Given the description of an element on the screen output the (x, y) to click on. 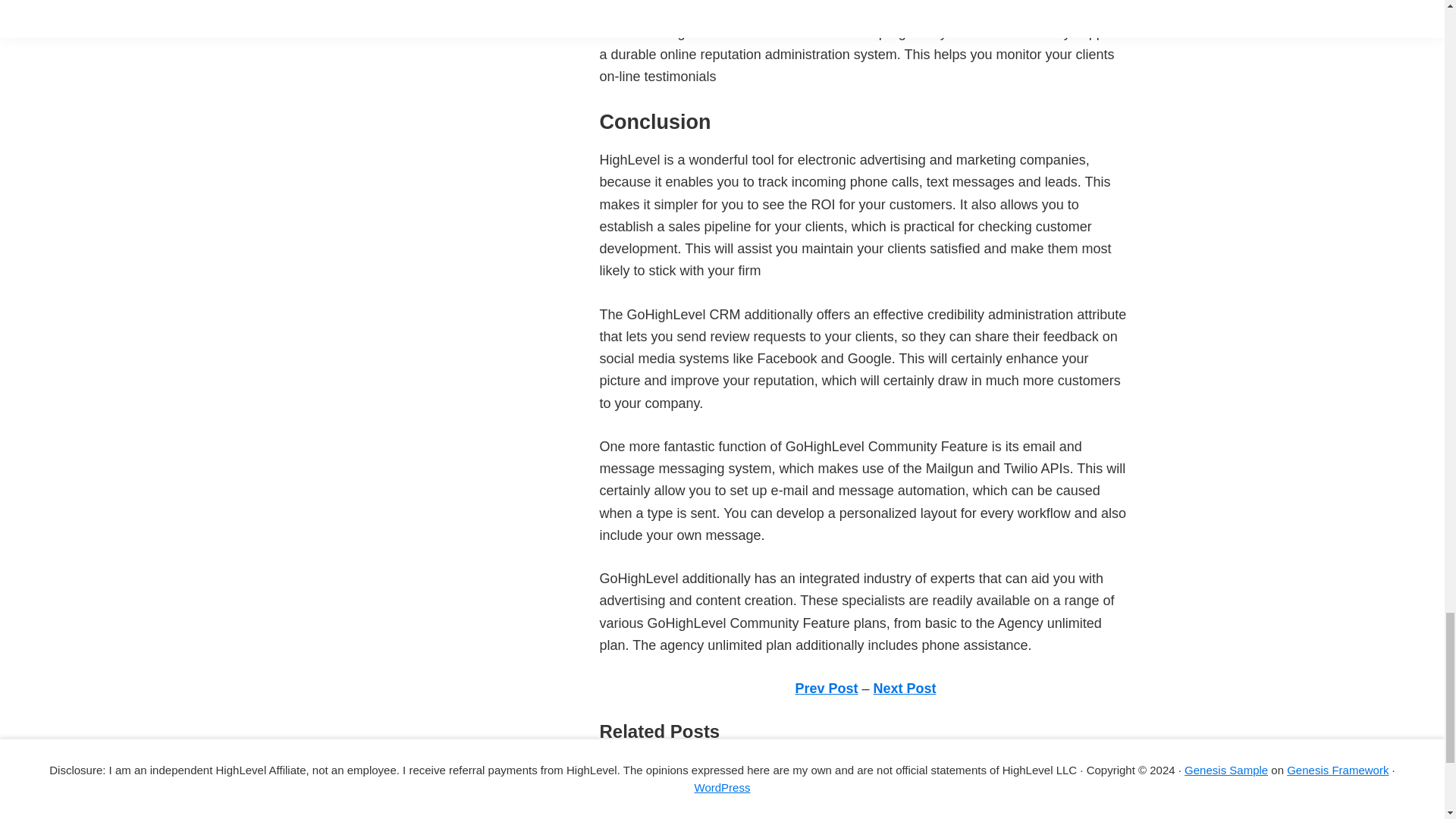
Contact GoHighLevel (663, 812)
GoHighLevel Membership Site Builder (713, 790)
Contact GoHighLevel (663, 812)
Prev Post (825, 688)
GoHighLevel Leads (658, 768)
GoHighLevel Membership Site Builder (713, 790)
Next Post (904, 688)
GoHighLevel Leads (658, 768)
